Given the description of an element on the screen output the (x, y) to click on. 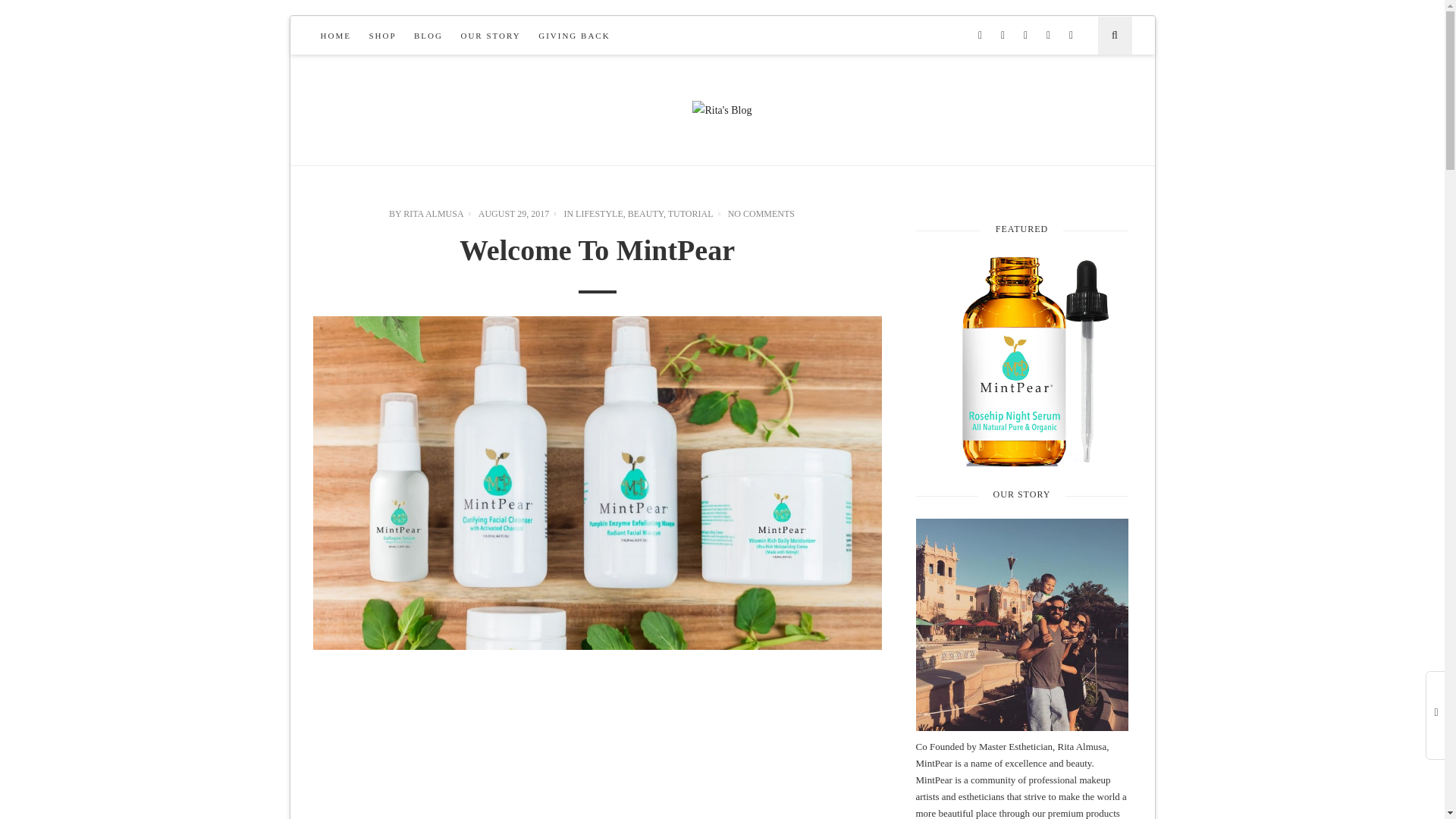
BEAUTY (645, 213)
TUTORIAL (690, 213)
GIVING BACK (574, 35)
NO COMMENTS (761, 213)
RITA ALMUSA (433, 213)
BLOG (427, 35)
OUR STORY (489, 35)
HOME (335, 35)
LIFESTYLE (599, 213)
SHOP (382, 35)
